Given the description of an element on the screen output the (x, y) to click on. 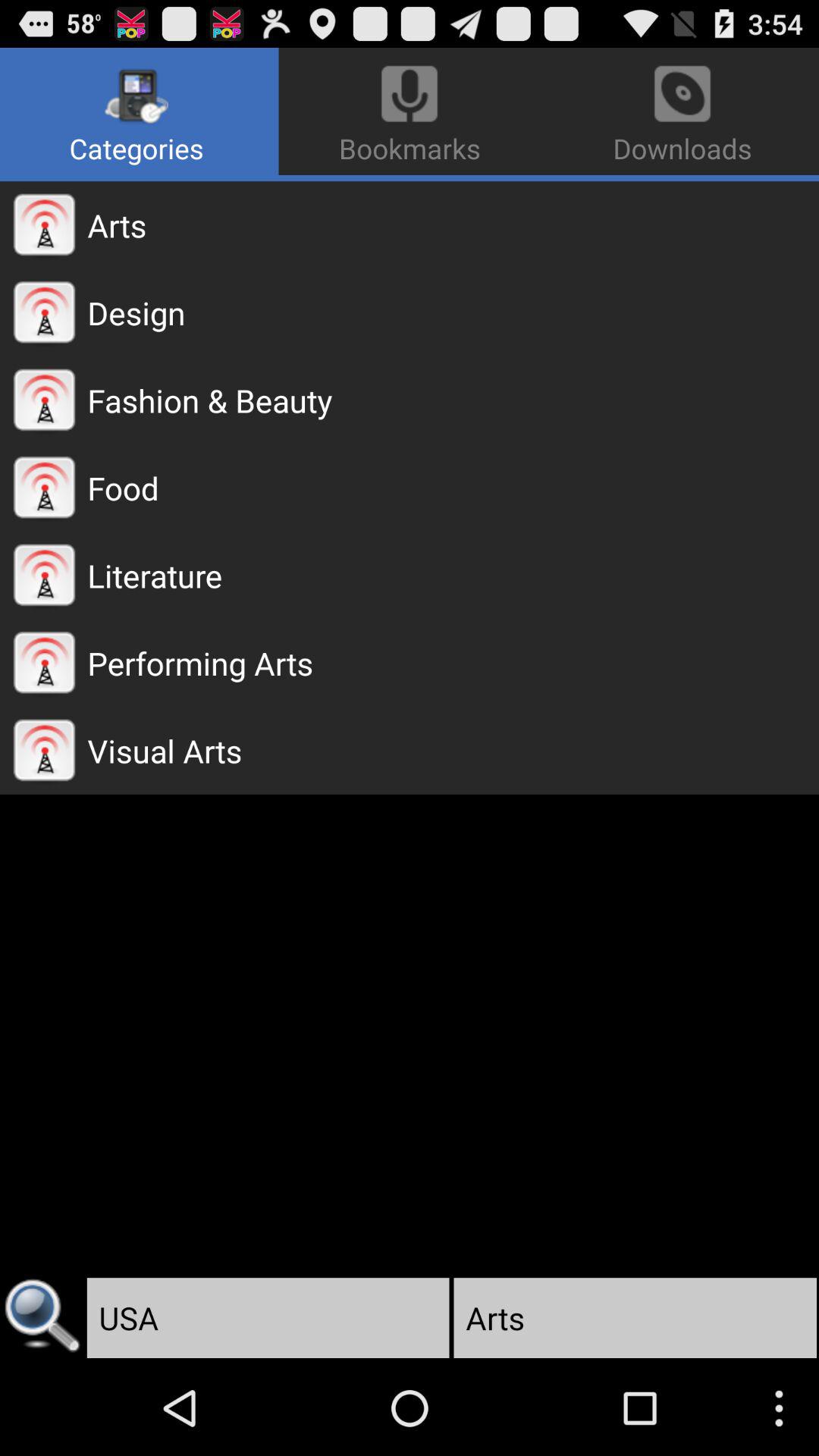
launch literature app (453, 575)
